Given the description of an element on the screen output the (x, y) to click on. 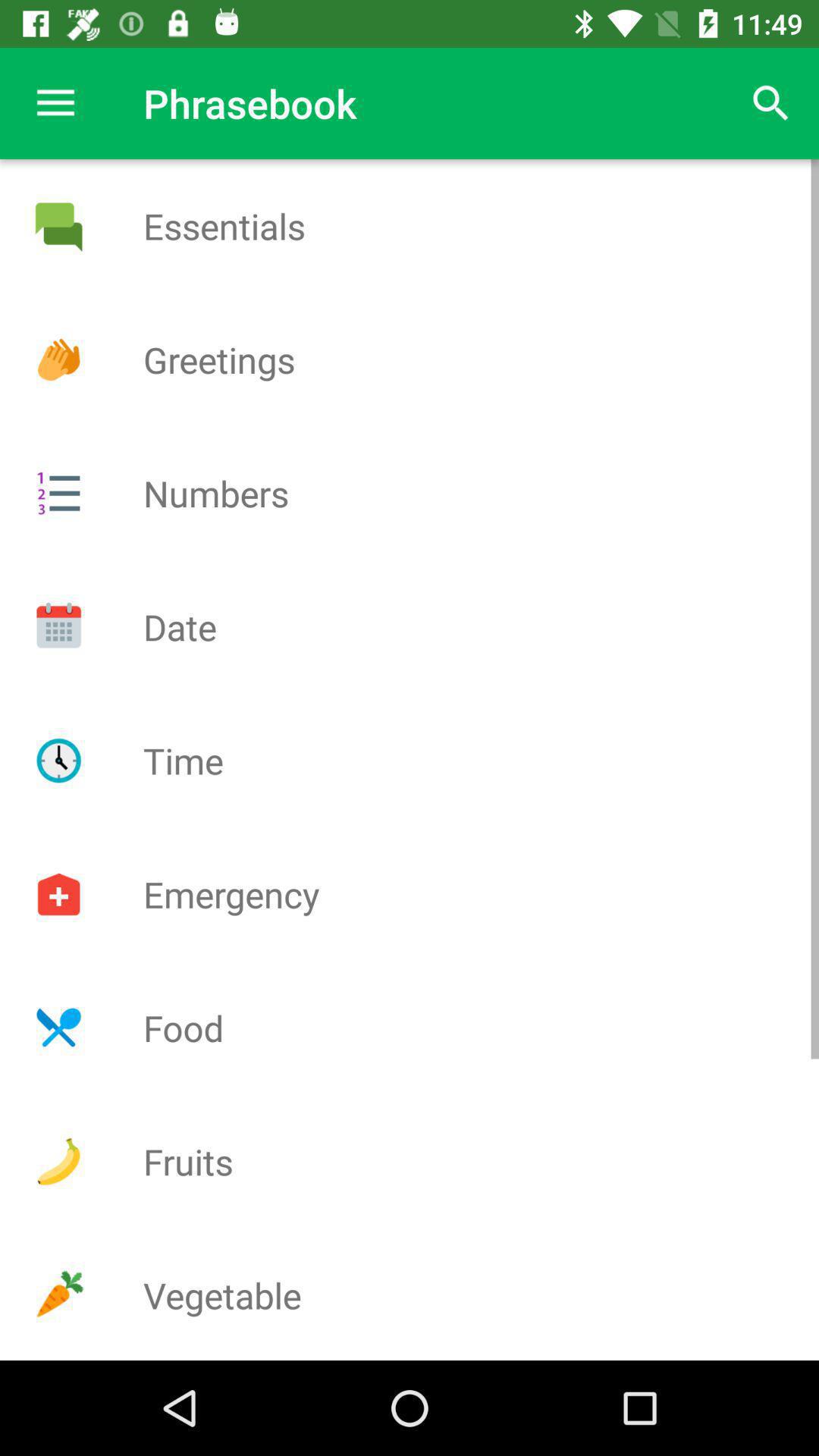
e (58, 226)
